Given the description of an element on the screen output the (x, y) to click on. 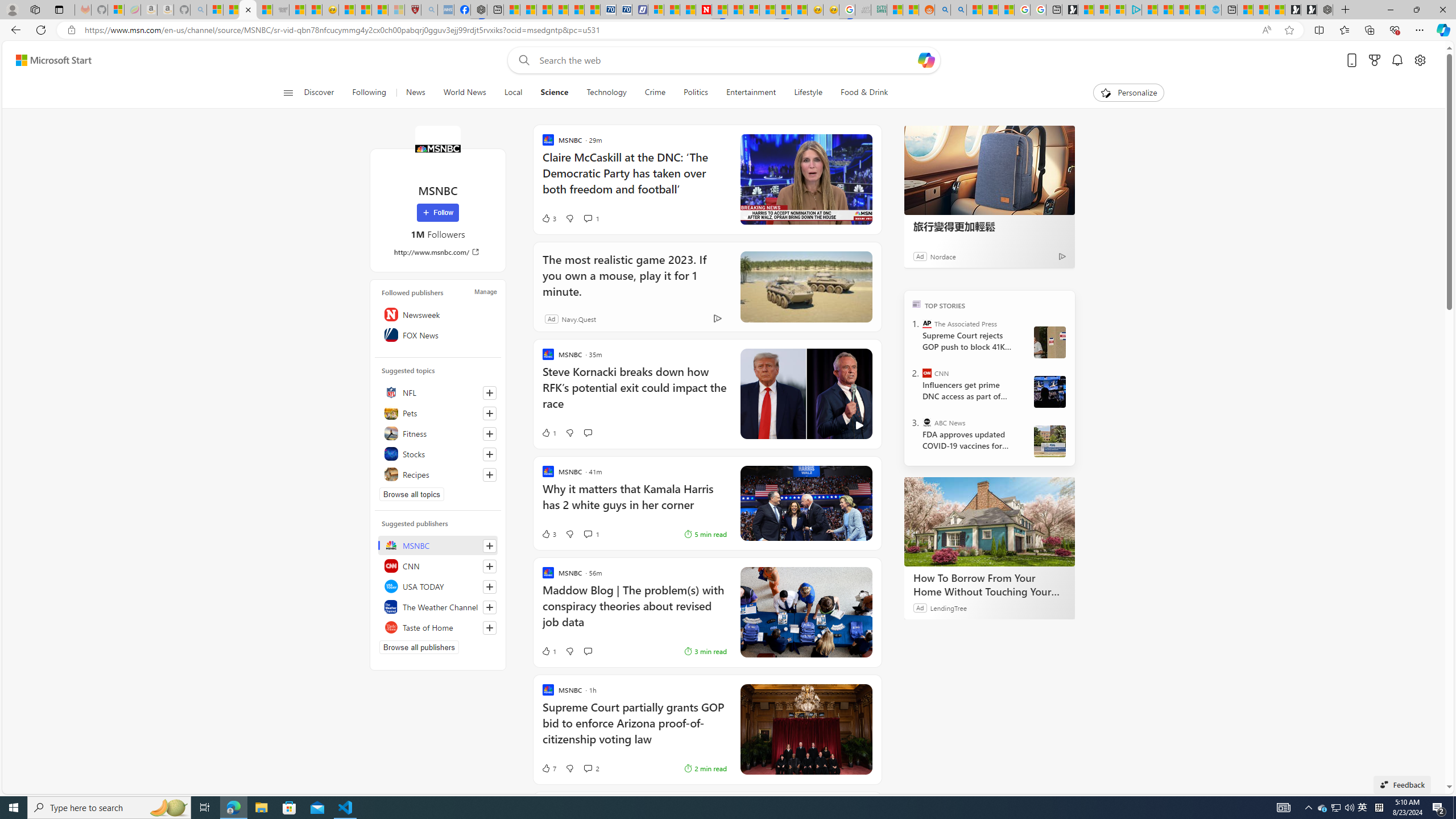
http://www.msnbc.com/ (438, 251)
12 Popular Science Lies that Must be Corrected - Sleeping (395, 9)
Follow this topic (489, 474)
Pets (437, 412)
Open settings (1420, 60)
Crime (654, 92)
Class: hero-image (805, 393)
Microsoft-Report a Concern to Bing (116, 9)
Stocks - MSN (264, 9)
